Given the description of an element on the screen output the (x, y) to click on. 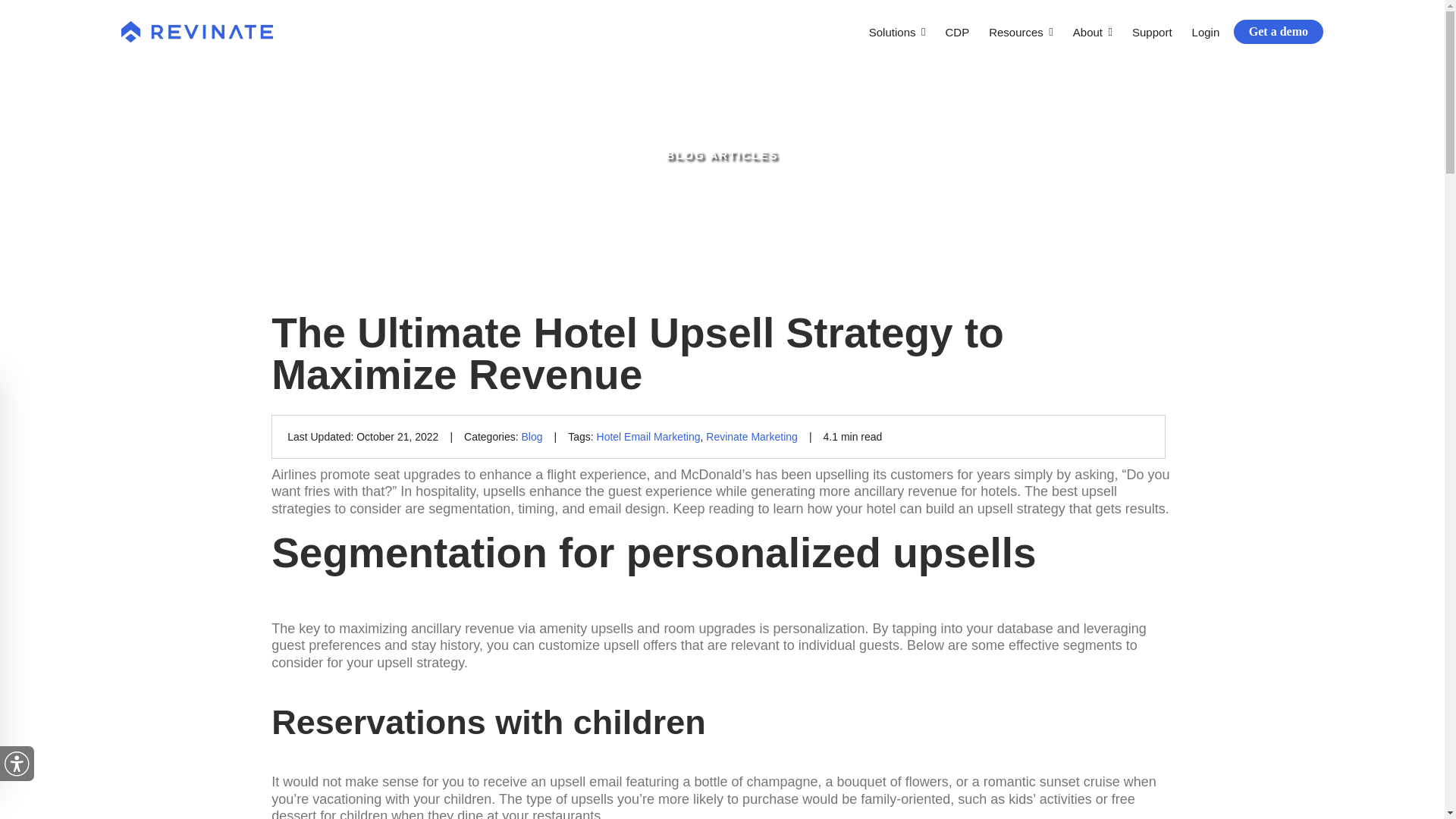
Solutions (897, 31)
CDP (957, 31)
Resources (1021, 31)
About (1092, 31)
